Given the description of an element on the screen output the (x, y) to click on. 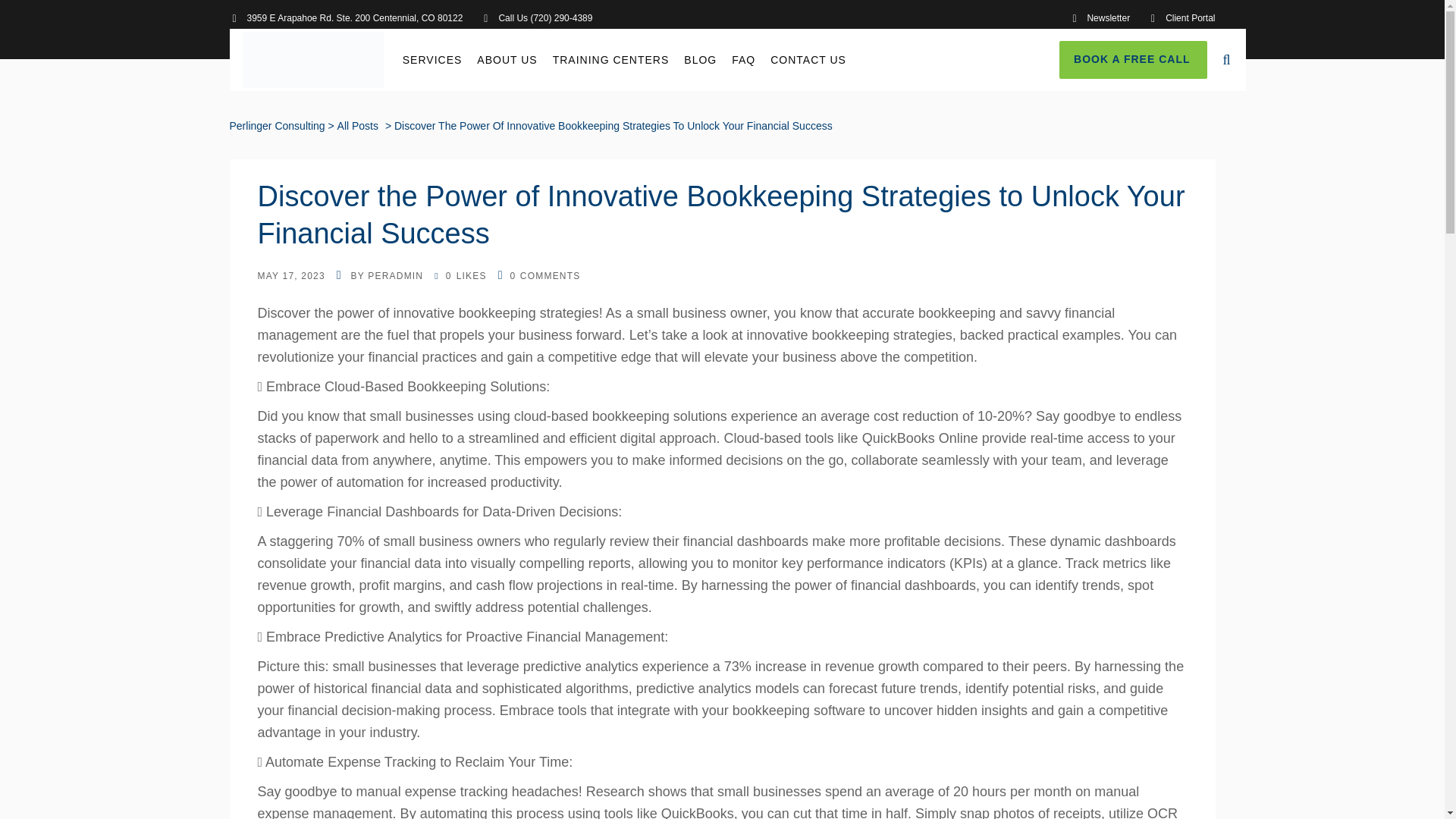
0LIKES (459, 276)
BLOG (700, 59)
All Posts (55, 125)
BOOK A FREE CALL (1133, 59)
FAQ (742, 59)
ABOUT US (506, 59)
CONTACT US (807, 59)
0 COMMENTS (538, 276)
Client Portal (1181, 25)
Newsletter (1098, 25)
3959 E Arapahoe Rd. Ste. 200 Centennial, CO 80122 (345, 25)
PERADMIN (395, 276)
Like this (459, 276)
SERVICES (432, 59)
TRAINING CENTERS (610, 59)
